Given the description of an element on the screen output the (x, y) to click on. 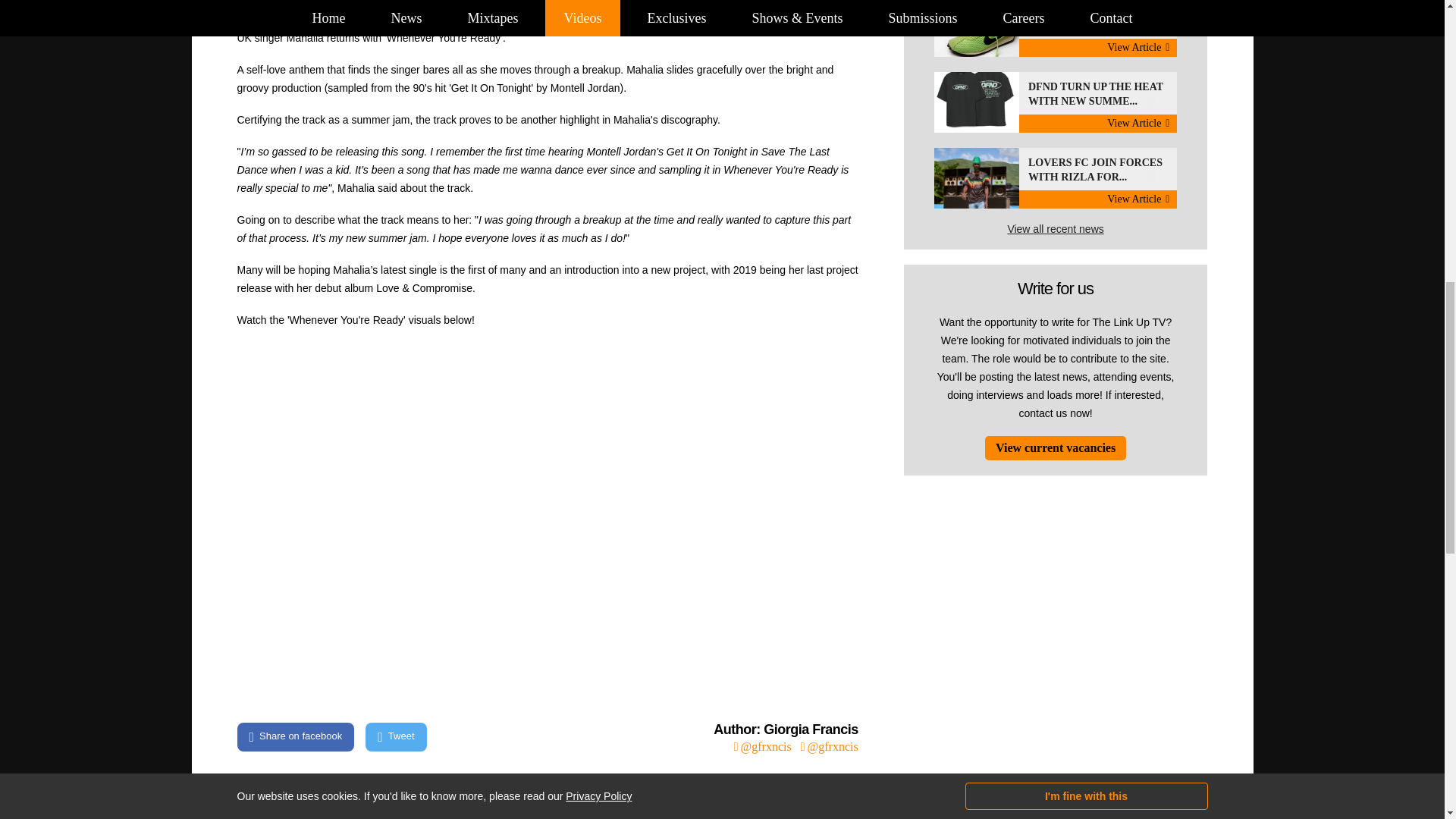
Share on facebook (294, 736)
Tweet (395, 736)
Stussy And Nike Revisit The 1970s with LD-1000 Collection (1055, 28)
DFND Turn Up The Heat With New Summer Tees (1055, 102)
